Given the description of an element on the screen output the (x, y) to click on. 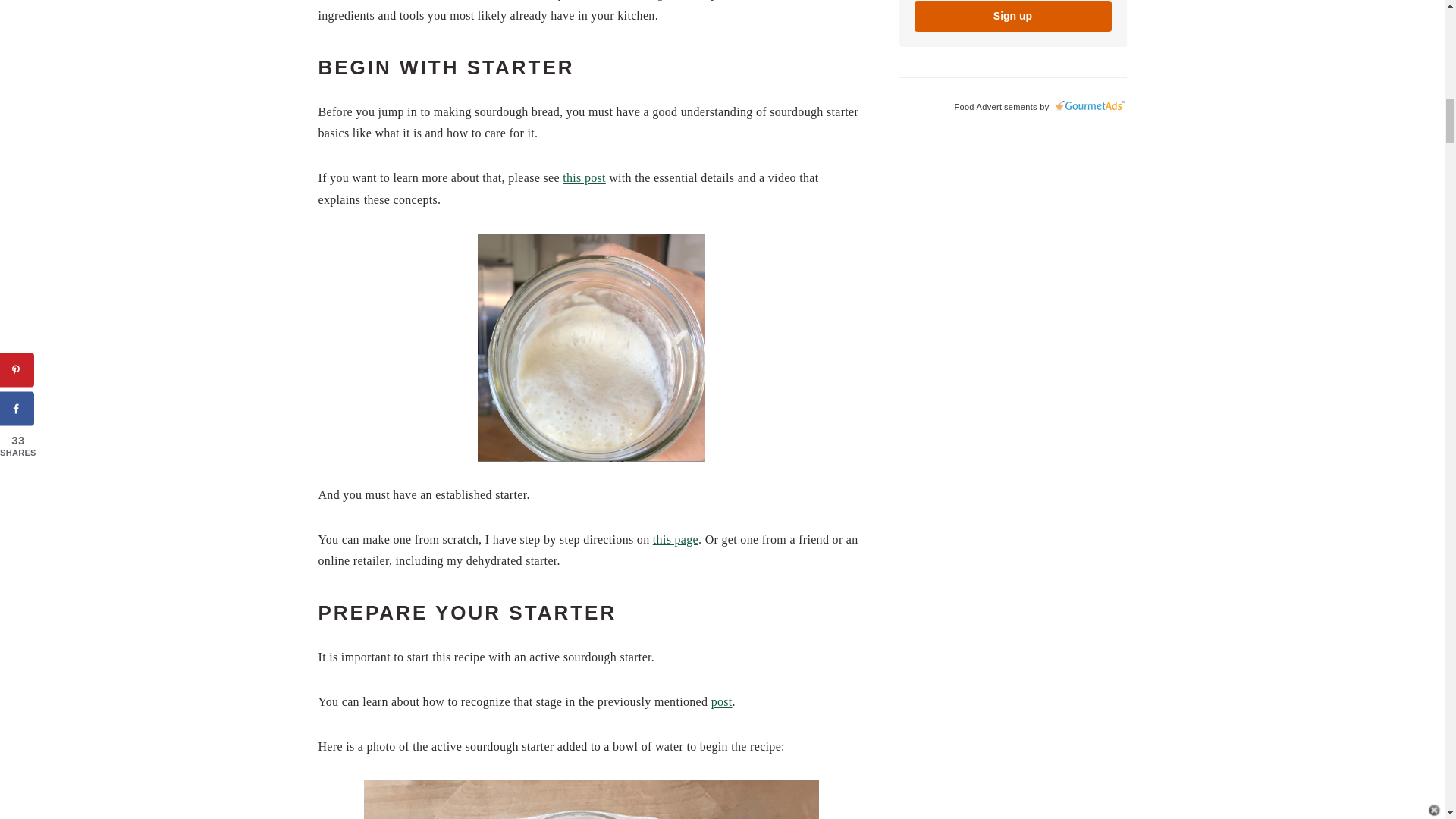
Food Advertisements (994, 106)
this page (675, 539)
this post (583, 177)
